Given the description of an element on the screen output the (x, y) to click on. 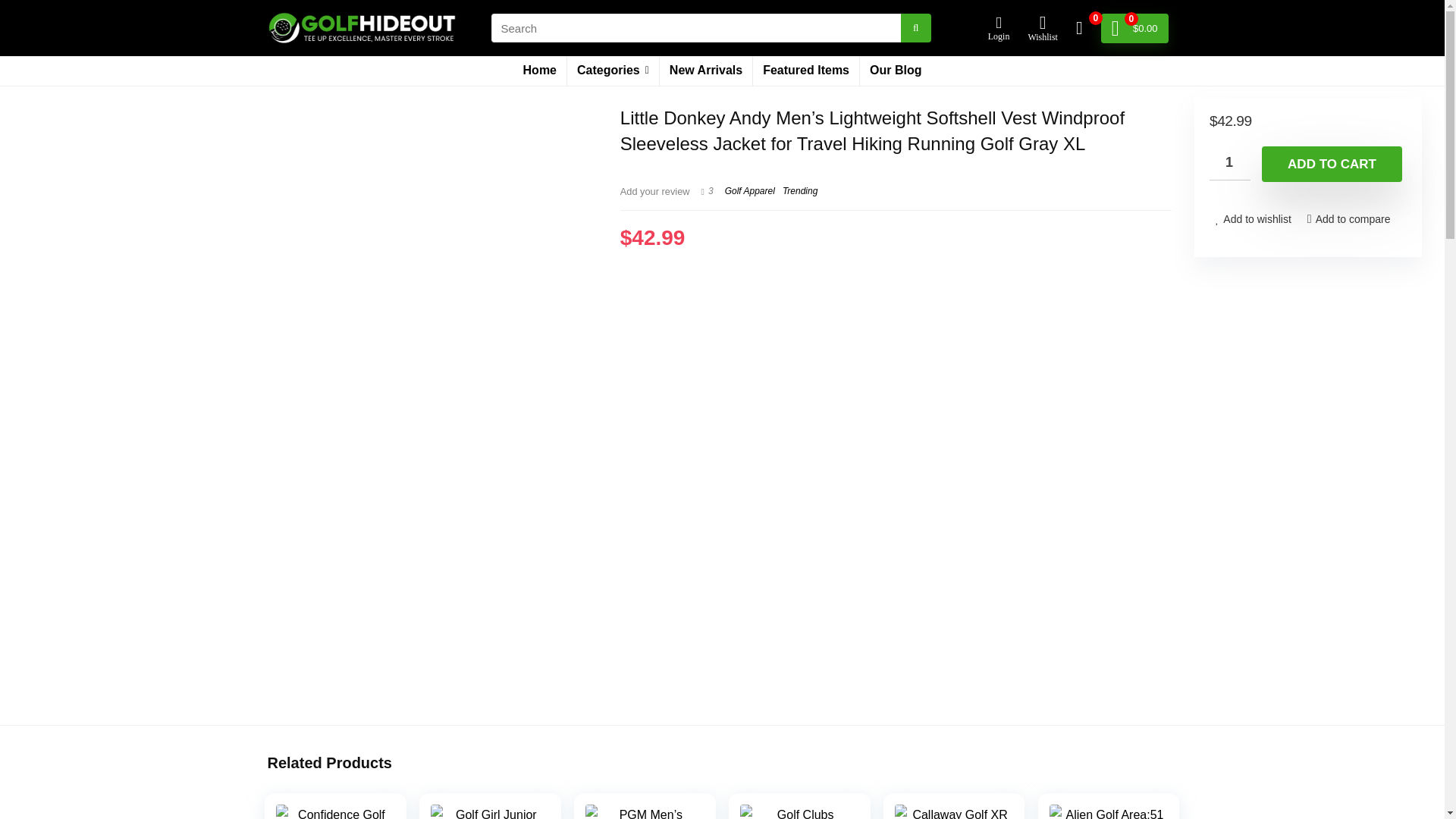
1 (1229, 163)
Our Blog (895, 70)
Home (539, 70)
View all posts in Trending (799, 190)
ADD TO CART (1332, 163)
Golf Apparel (749, 190)
View all posts in Golf Apparel (749, 190)
Add your review (655, 191)
New Arrivals (705, 70)
Featured Items (805, 70)
Categories (613, 70)
Trending (799, 190)
